Given the description of an element on the screen output the (x, y) to click on. 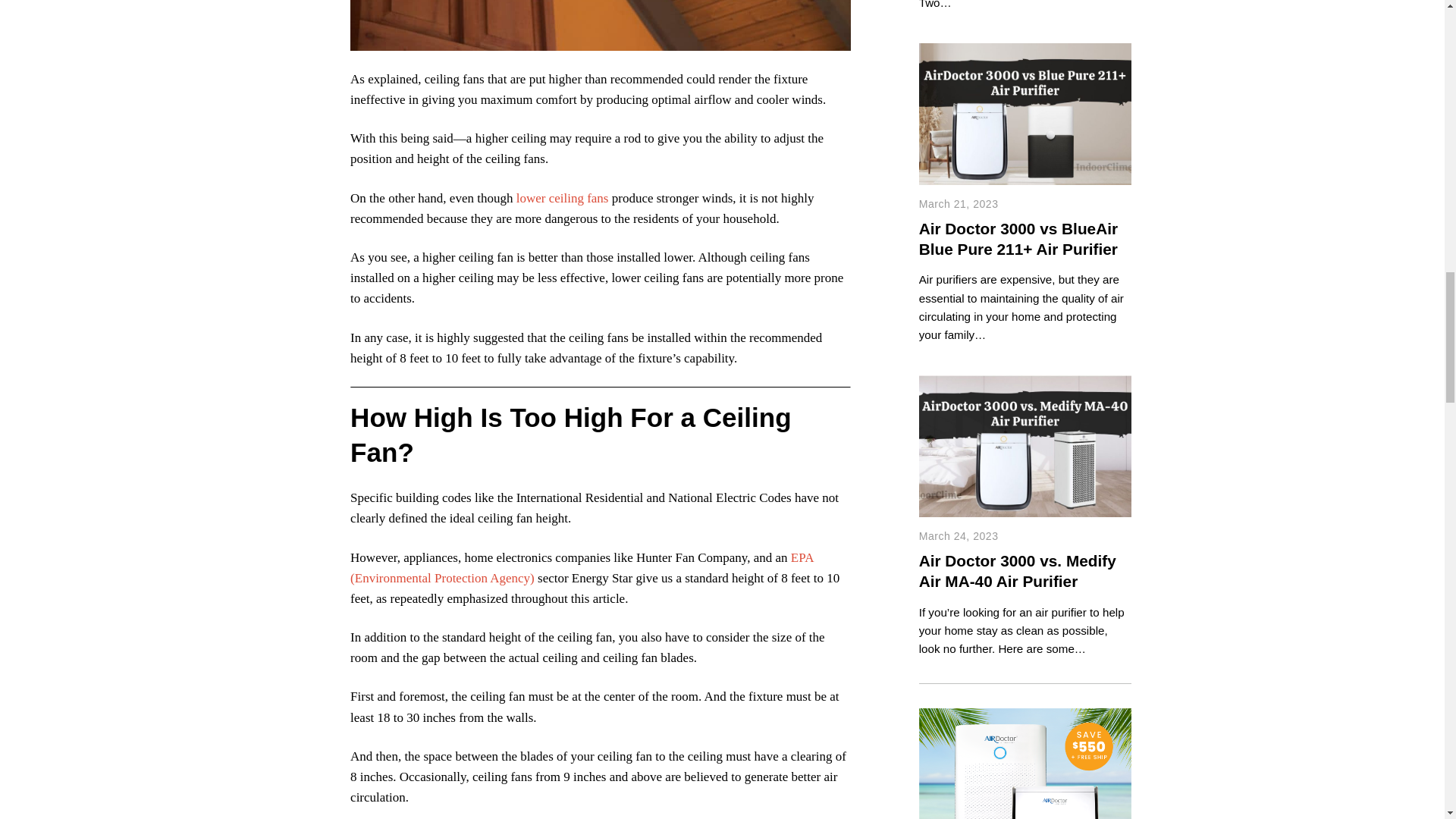
lower ceiling fans (562, 197)
Is It Better To Have a Ceiling Fan Higher Or Lower? (600, 25)
